Given the description of an element on the screen output the (x, y) to click on. 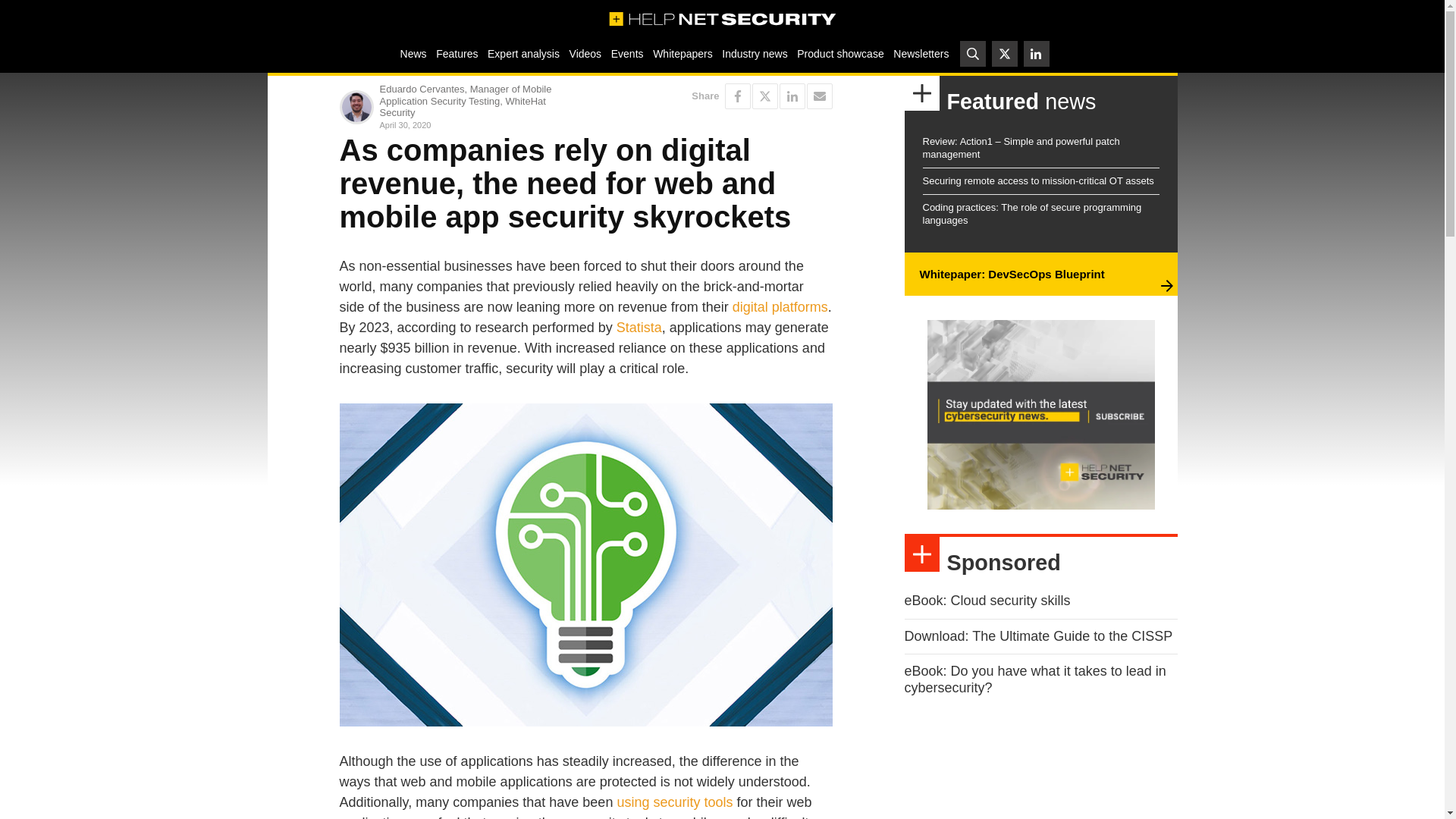
Product showcase (840, 53)
April 30, 2020 (478, 124)
using security tools (673, 801)
News (412, 53)
Expert analysis (523, 53)
digital platforms (780, 306)
Industry news (754, 53)
Features (456, 53)
Whitepapers (682, 53)
Securing remote access to mission-critical OT assets (1037, 180)
Statista (638, 327)
Coding practices: The role of secure programming languages (1031, 213)
